Given the description of an element on the screen output the (x, y) to click on. 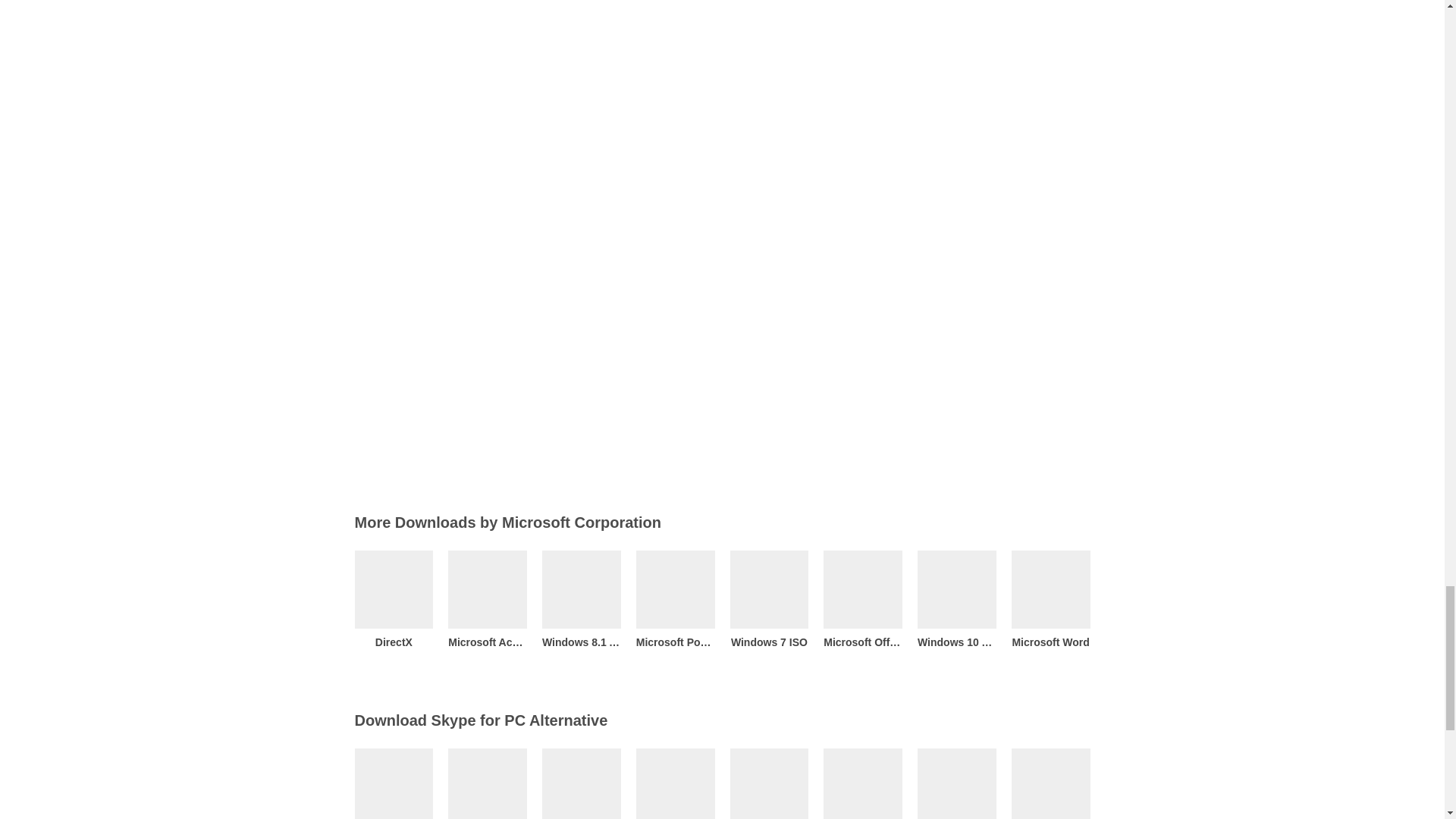
Viber (487, 783)
Red WhatsApp (956, 783)
FM WhatsApp (394, 783)
Gold WhatsApp (863, 783)
Viber (487, 783)
FM WhatsApp (394, 783)
Discord (675, 783)
Imo for PC (768, 783)
GB Whatsapp APK (581, 783)
